Given the description of an element on the screen output the (x, y) to click on. 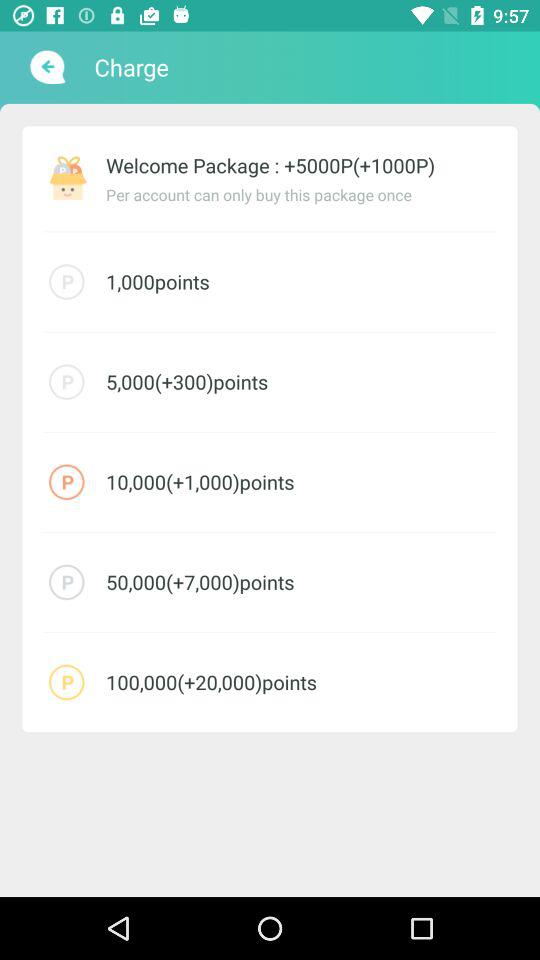
go to previous (45, 67)
